Given the description of an element on the screen output the (x, y) to click on. 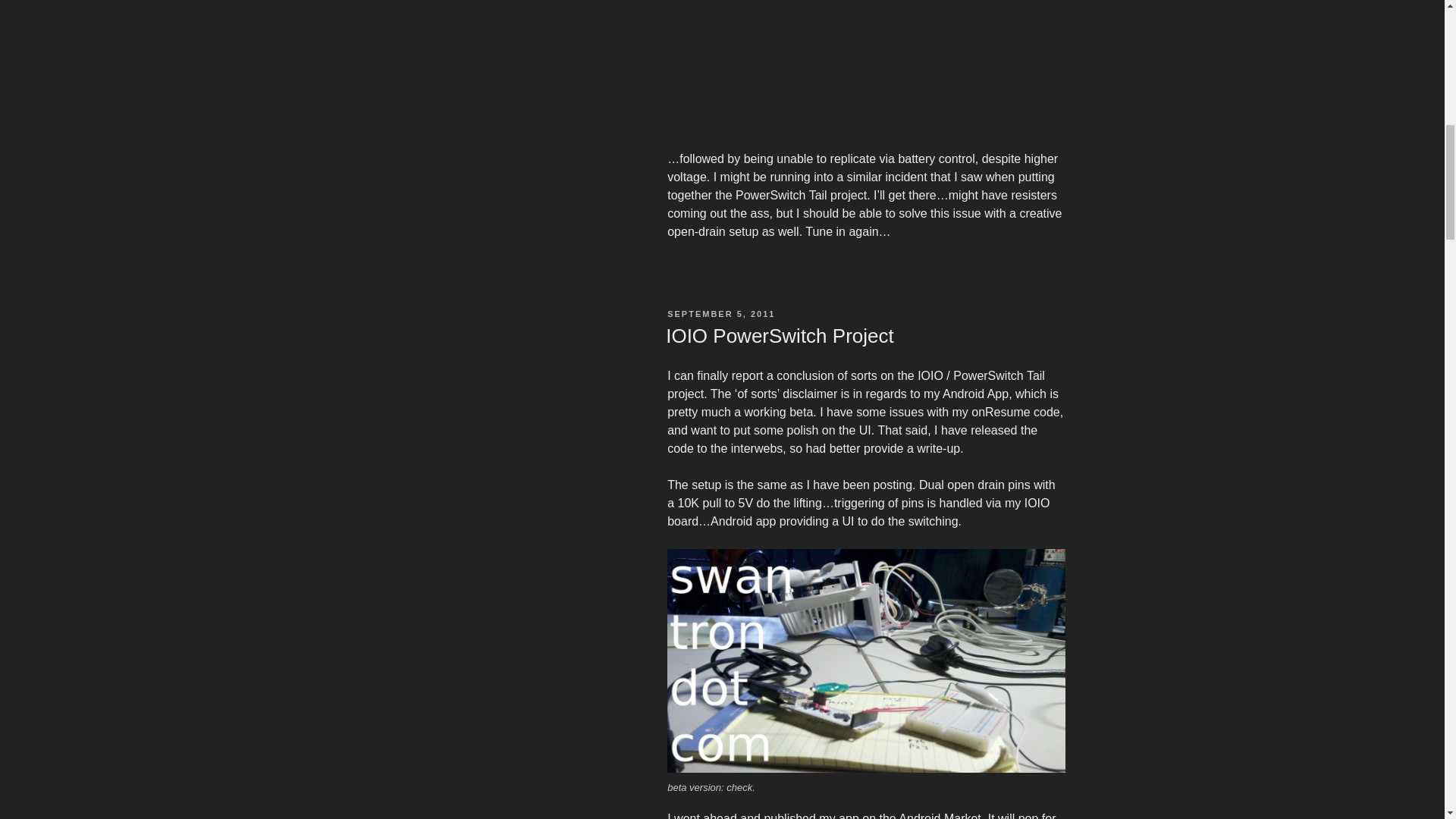
IOIO PowerSwitch Project (779, 335)
ioio-example (865, 660)
SEPTEMBER 5, 2011 (720, 313)
